Given the description of an element on the screen output the (x, y) to click on. 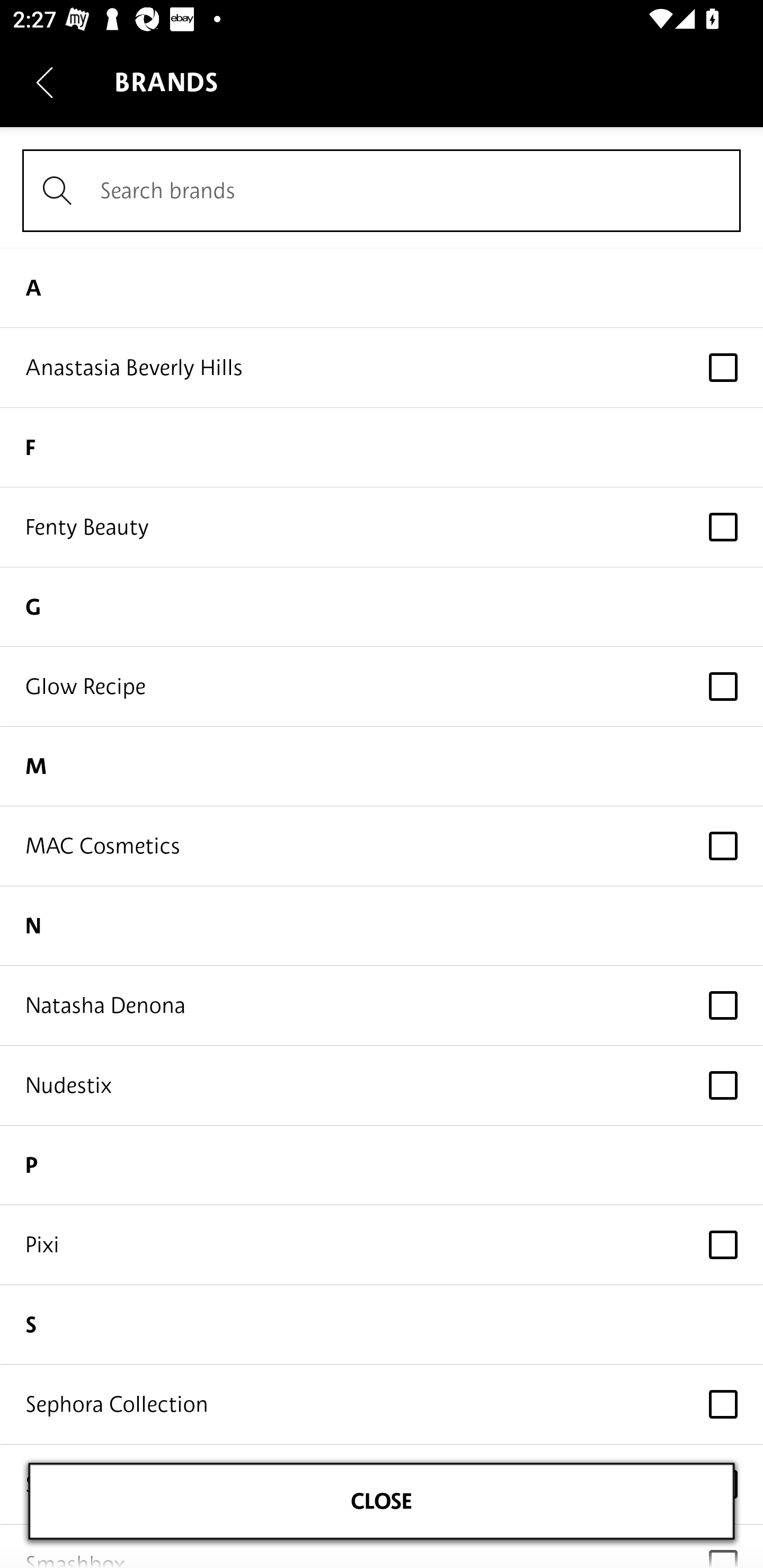
Navigate up (44, 82)
Search brands (381, 190)
A (381, 287)
Anastasia Beverly Hills (381, 367)
F (381, 446)
Fenty Beauty (381, 526)
G (381, 606)
Glow Recipe (381, 685)
M (381, 766)
MAC Cosmetics (381, 845)
N (381, 925)
Natasha Denona (381, 1005)
Nudestix (381, 1085)
P (381, 1164)
Pixi (381, 1244)
S (381, 1324)
Sephora Collection (381, 1404)
CLOSE (381, 1501)
